Given the description of an element on the screen output the (x, y) to click on. 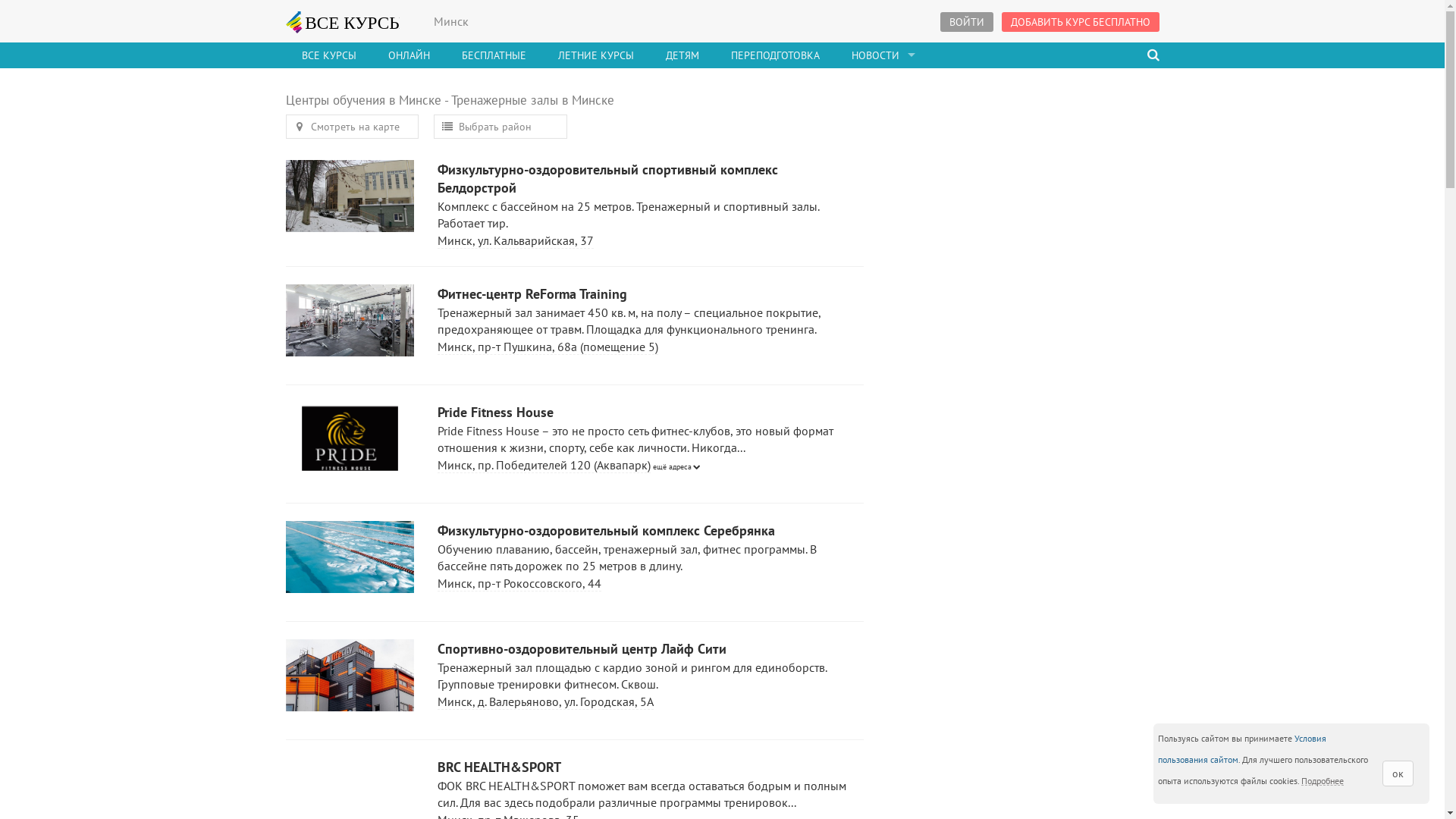
BRC HEALTH&SPORT Element type: text (647, 767)
Pride Fitness House Element type: text (349, 442)
Pride Fitness House Element type: text (647, 412)
